Given the description of an element on the screen output the (x, y) to click on. 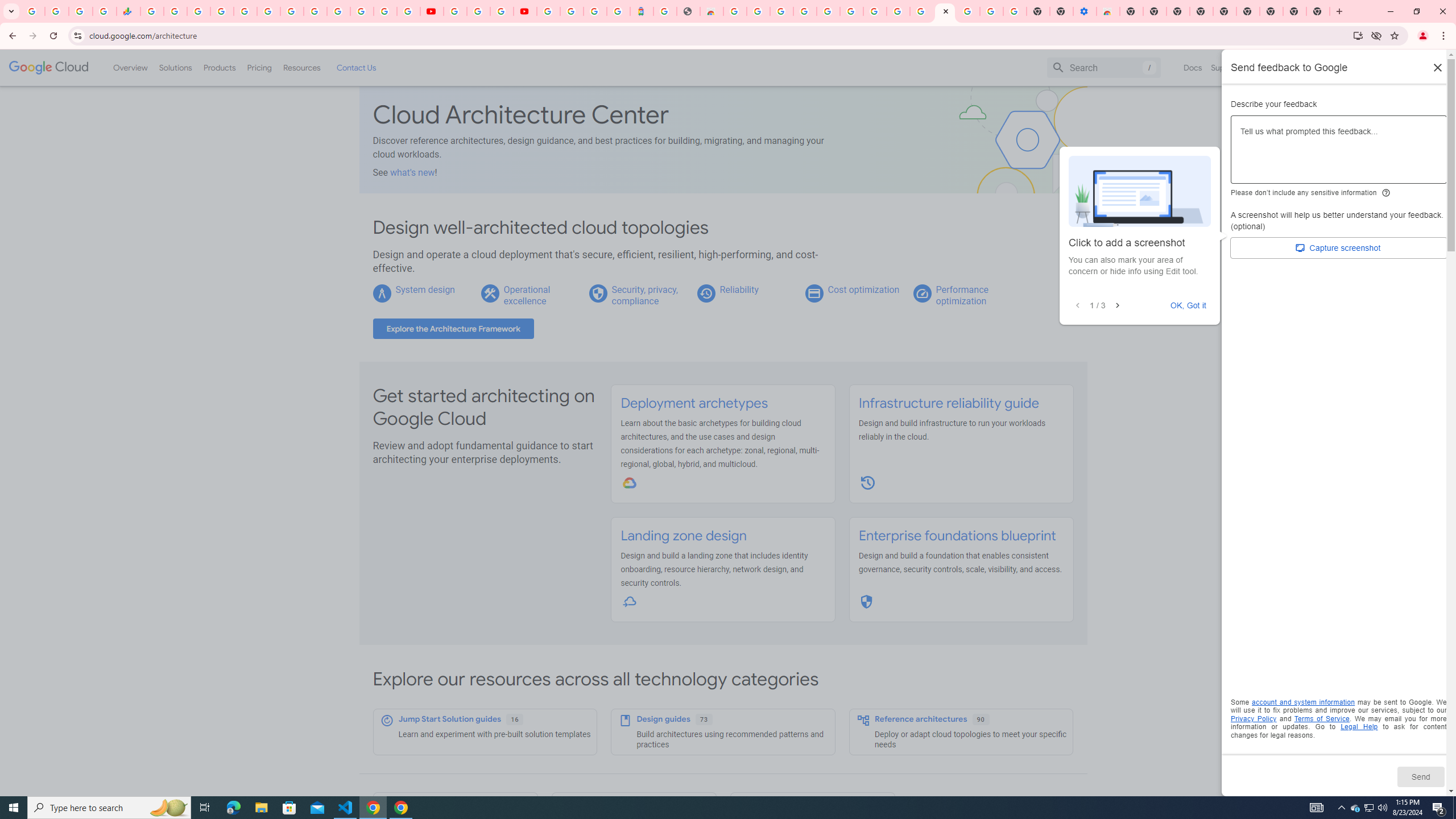
Ad Settings (804, 11)
